Given the description of an element on the screen output the (x, y) to click on. 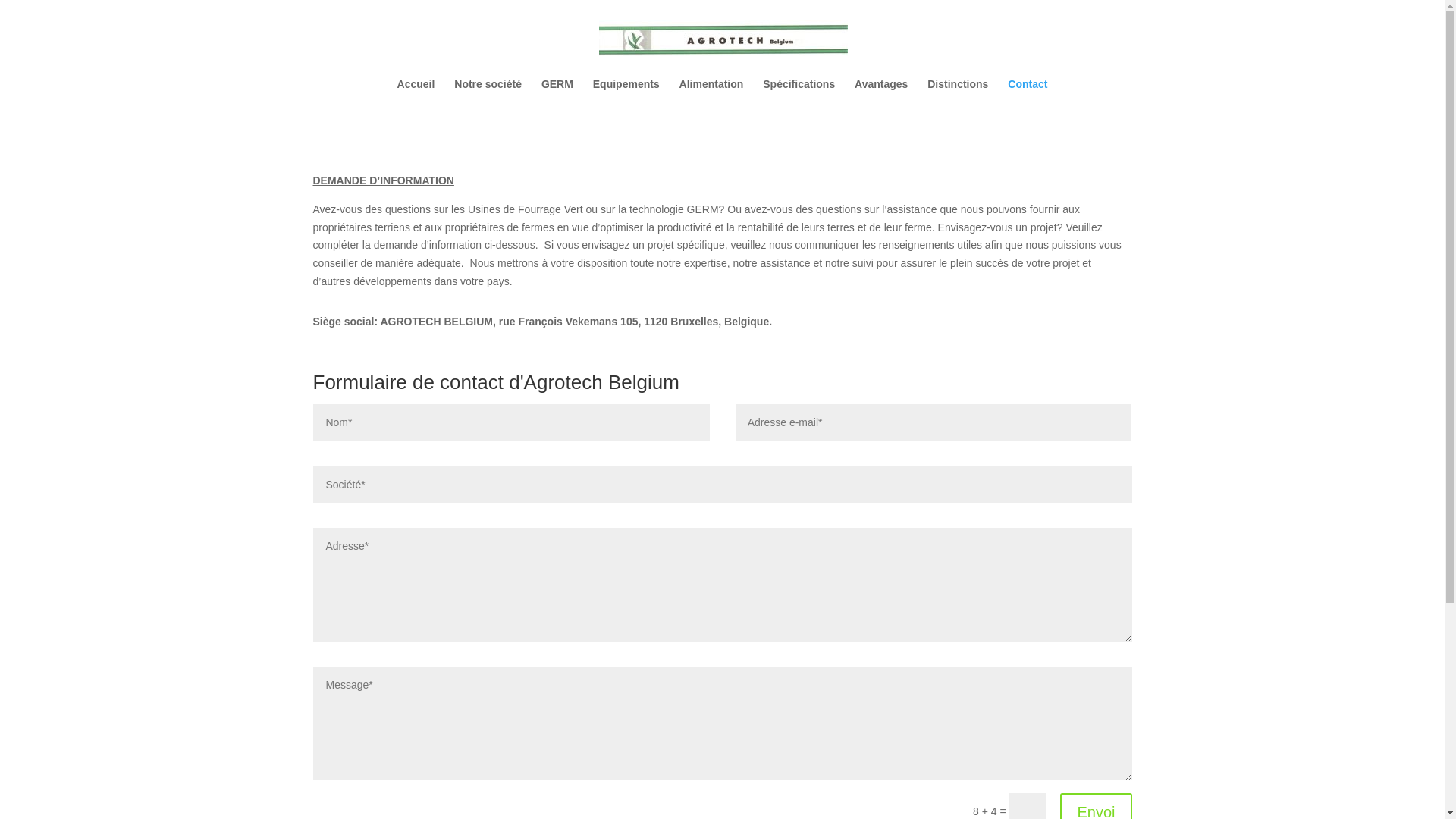
Avantages Element type: text (880, 94)
Distinctions Element type: text (957, 94)
Equipements Element type: text (626, 94)
Alimentation Element type: text (711, 94)
Accueil Element type: text (416, 94)
Contact Element type: text (1027, 94)
GERM Element type: text (557, 94)
